Given the description of an element on the screen output the (x, y) to click on. 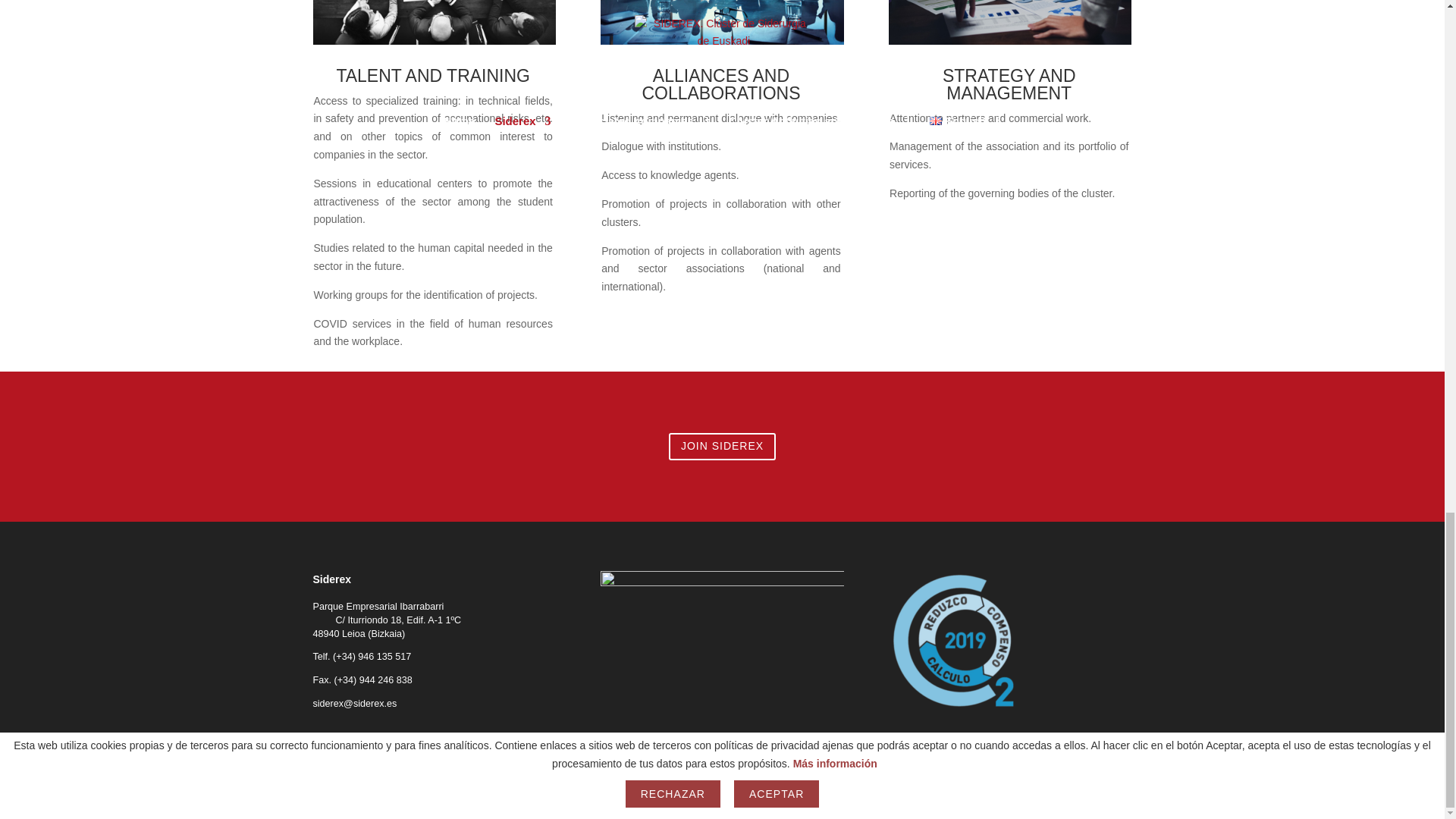
JOIN SIDEREX (722, 446)
